Given the description of an element on the screen output the (x, y) to click on. 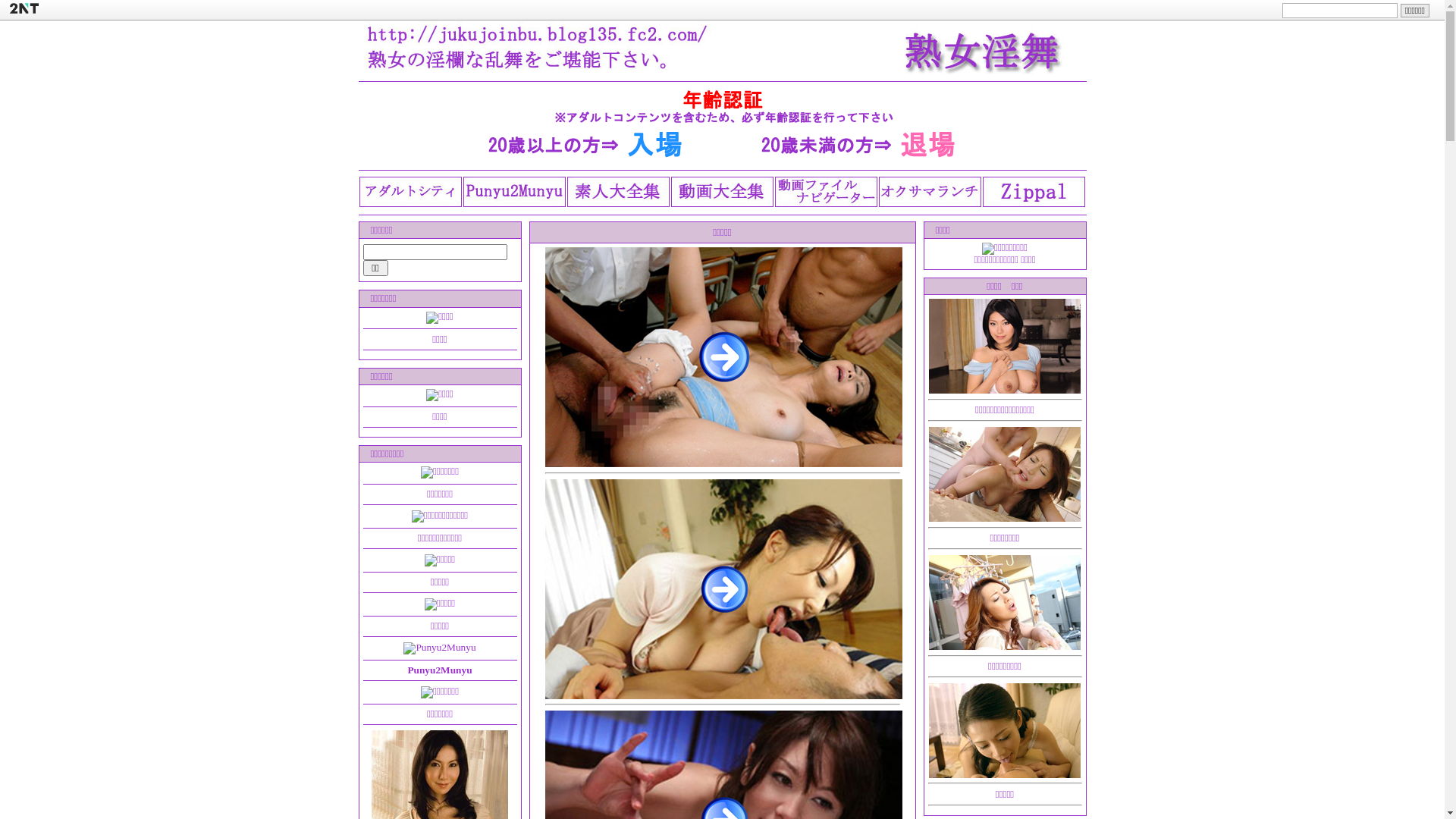
Punyu2Munyu Element type: text (439, 669)
